Given the description of an element on the screen output the (x, y) to click on. 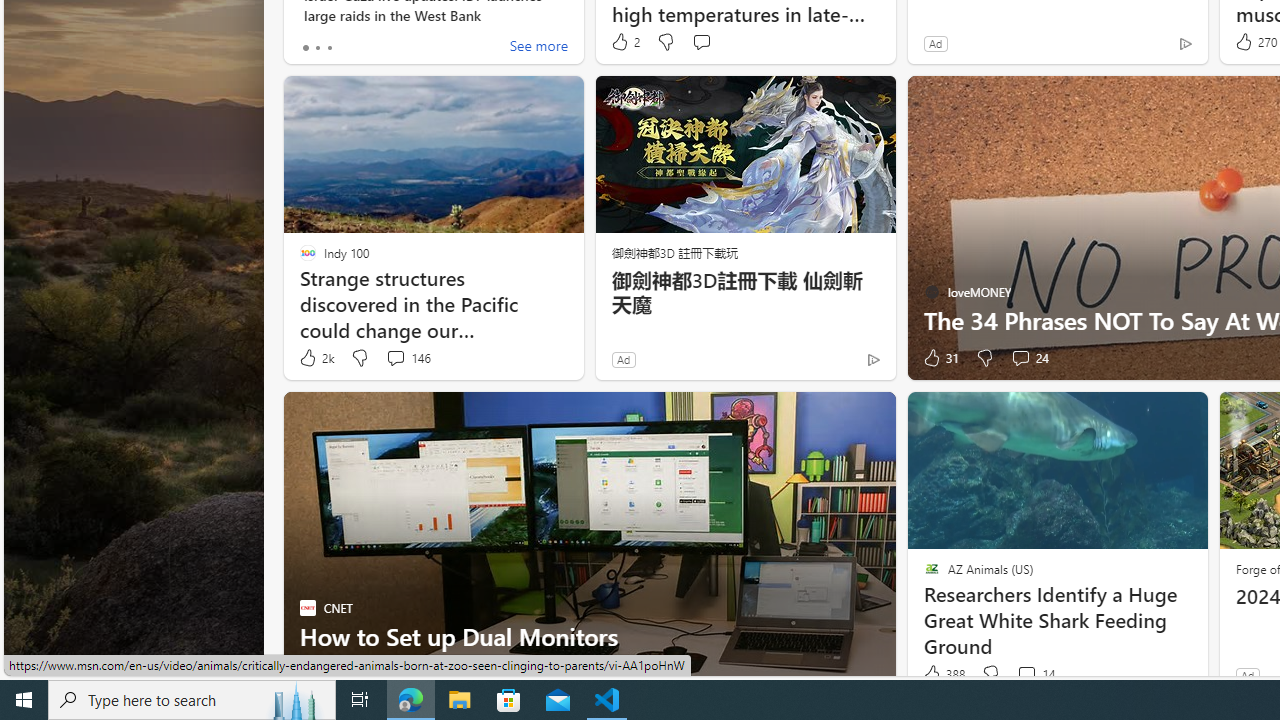
2k Like (315, 358)
42 Like (316, 674)
Ad Choice (873, 359)
View comments 14 Comment (1035, 674)
tab-2 (328, 47)
Ad (1247, 675)
View comments 146 Comment (395, 357)
View comments 24 Comment (1019, 357)
View comments 146 Comment (408, 358)
tab-1 (317, 47)
View comments 24 Comment (1029, 358)
388 Like (942, 674)
See more (538, 47)
